Given the description of an element on the screen output the (x, y) to click on. 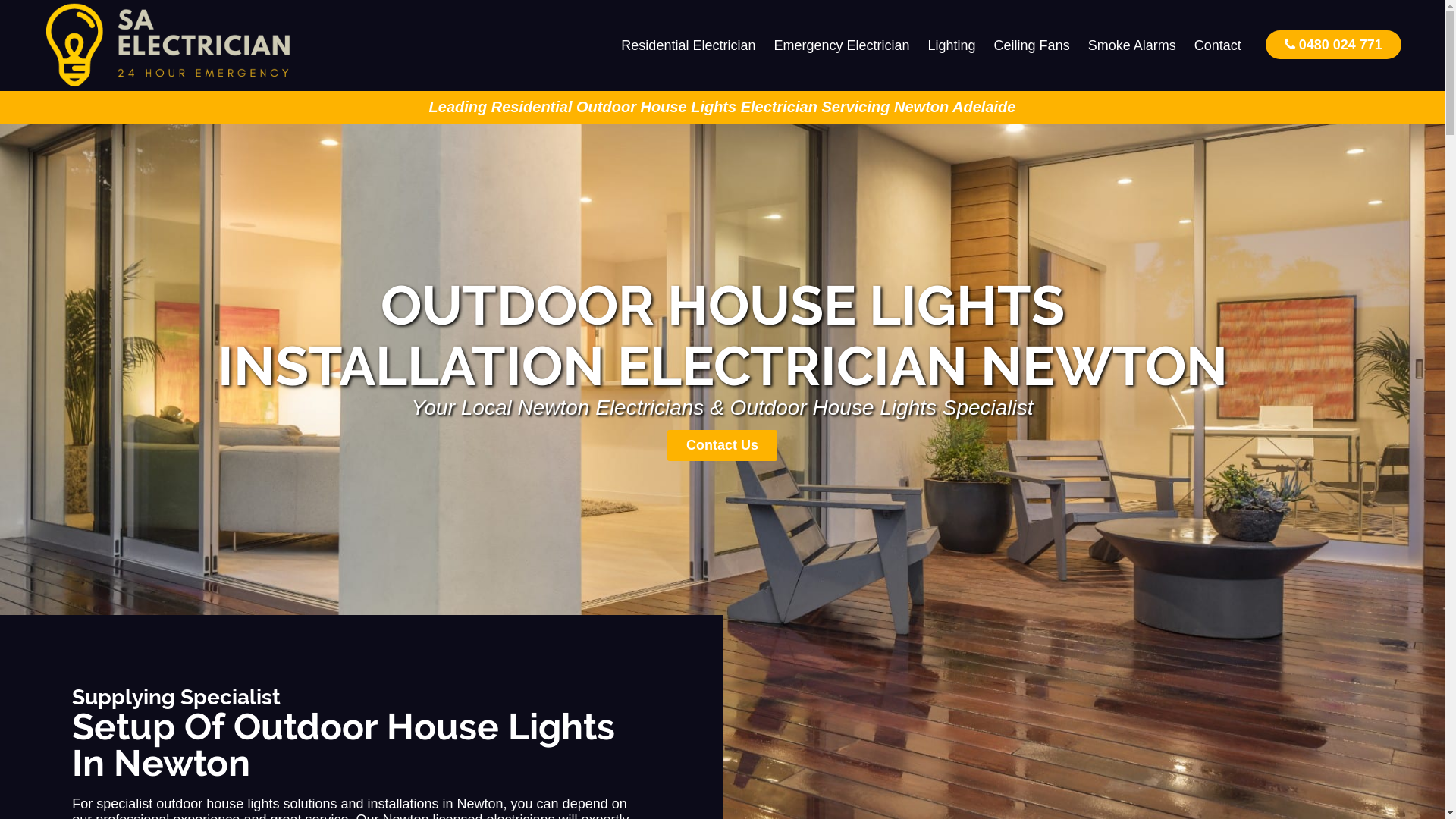
0480 024 771 Element type: text (1333, 44)
Smoke Alarms Element type: text (1132, 45)
Contact Us Element type: text (722, 445)
Lighting Element type: text (952, 45)
Emergency Electrician Element type: text (841, 45)
Ceiling Fans Element type: text (1032, 45)
Residential Electrician Element type: text (687, 45)
Contact Element type: text (1217, 45)
